Given the description of an element on the screen output the (x, y) to click on. 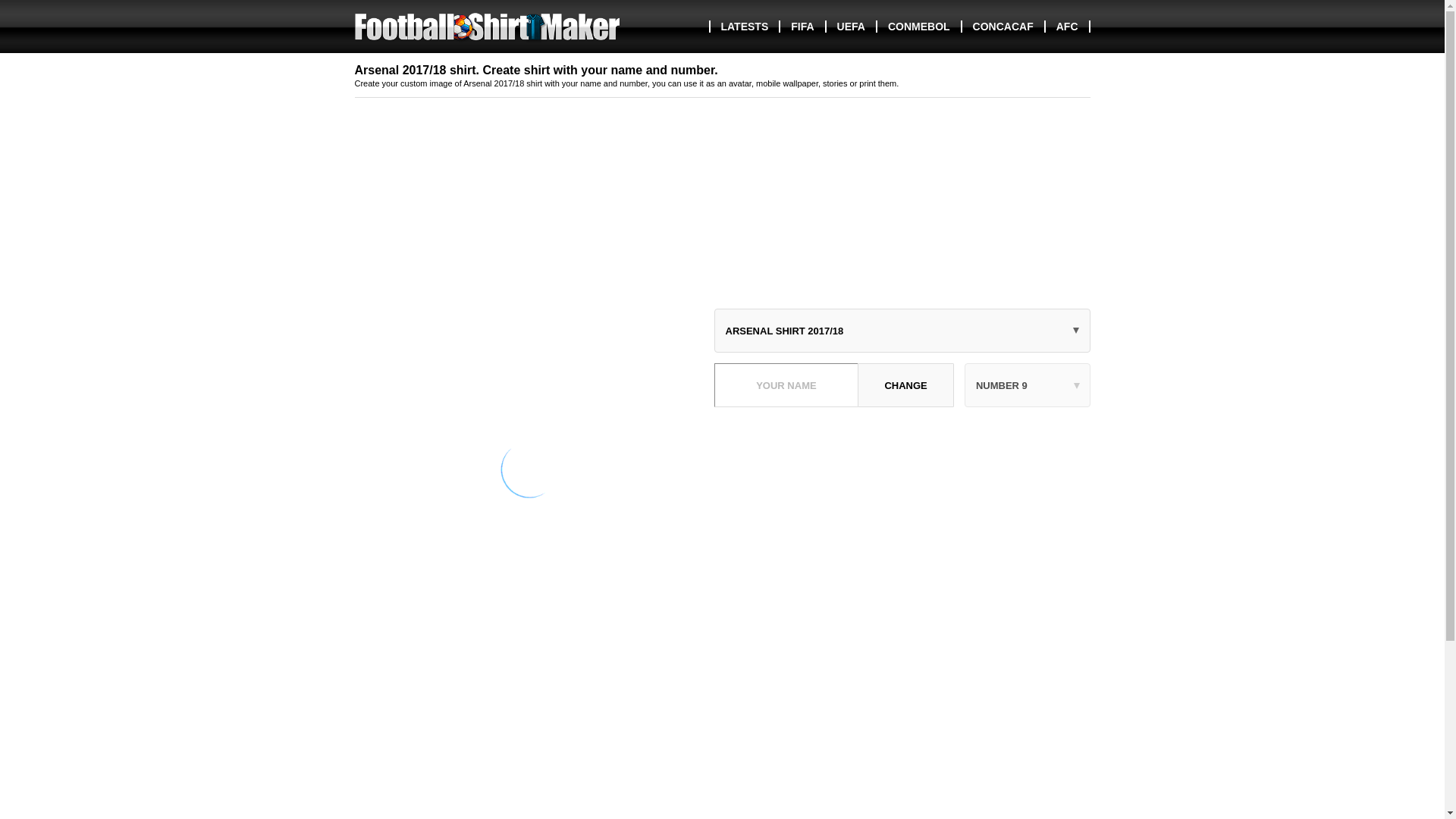
CONMEBOL (918, 26)
FIFA (801, 26)
LATESTS (742, 26)
CHANGE (905, 385)
CHANGE (905, 385)
AFC (1066, 26)
Advertisement (722, 729)
Advertisement (902, 523)
UEFA (850, 26)
